Given the description of an element on the screen output the (x, y) to click on. 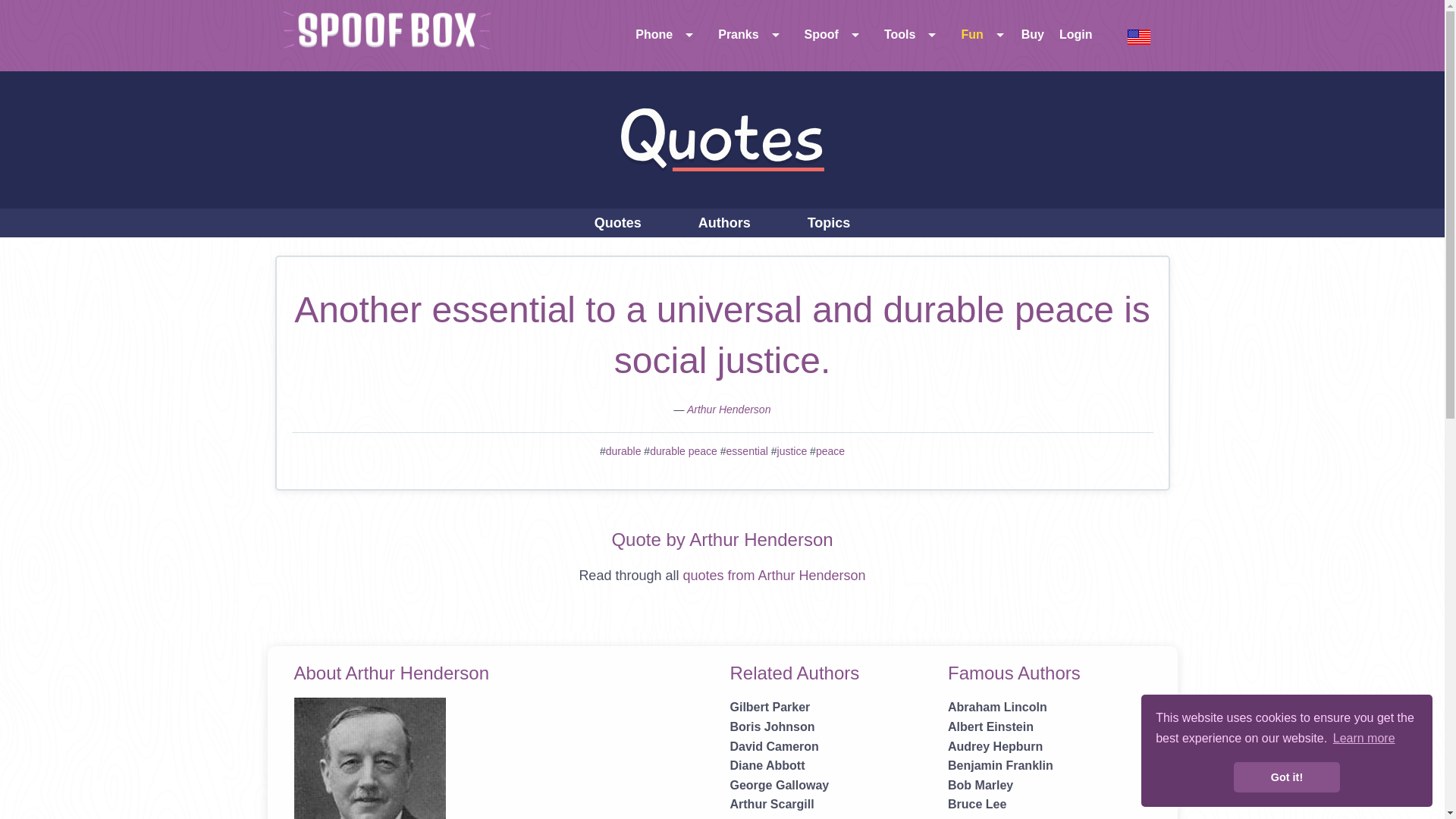
Quotes by Arthur Henderson (729, 409)
All Quotes by Arthur Henderson (773, 575)
Change language (1138, 35)
Learn more (1363, 738)
Got it! (1286, 777)
